Given the description of an element on the screen output the (x, y) to click on. 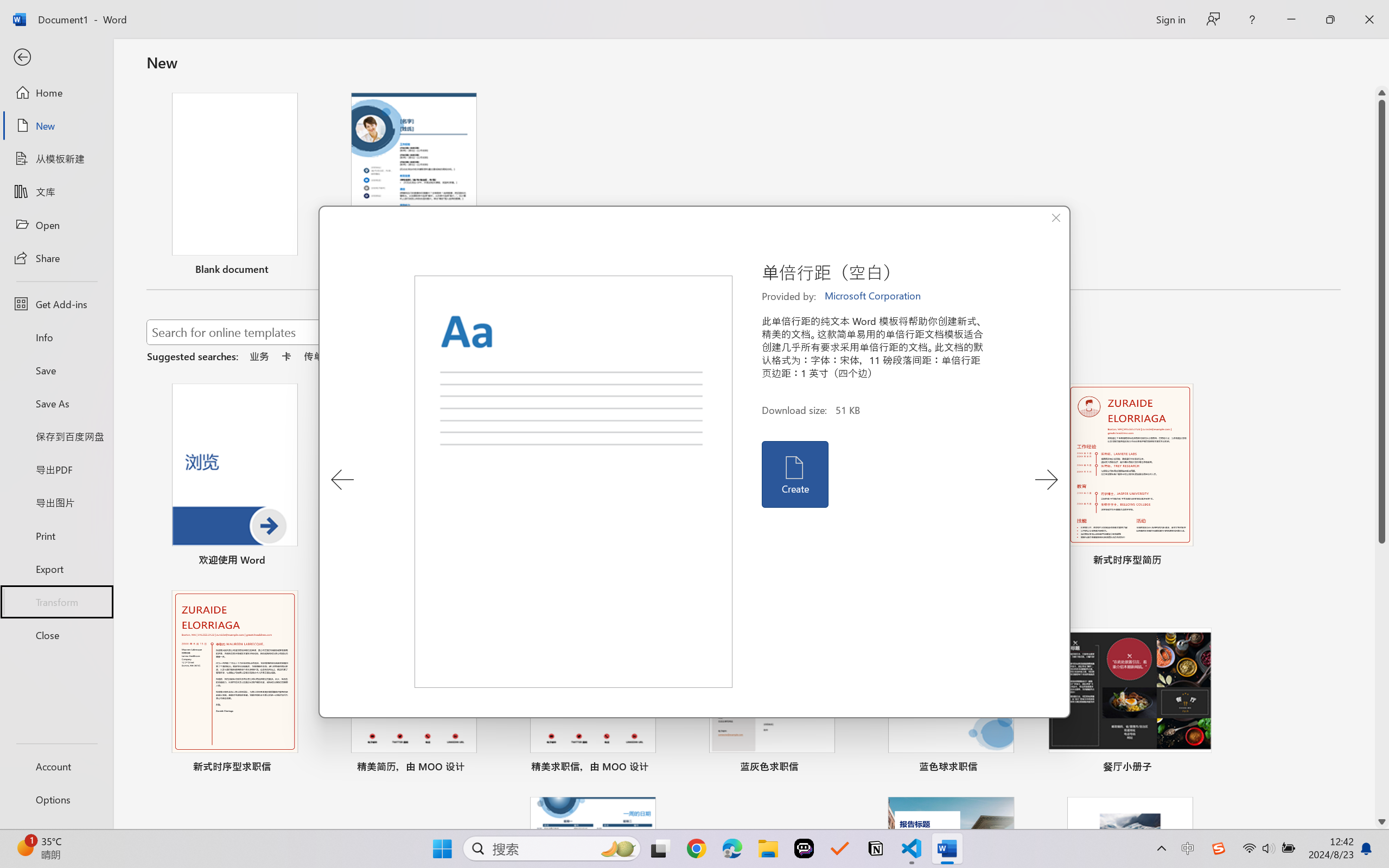
Pin to list (1200, 767)
Search for online templates (389, 333)
Page down (1382, 679)
Save As (56, 403)
